Given the description of an element on the screen output the (x, y) to click on. 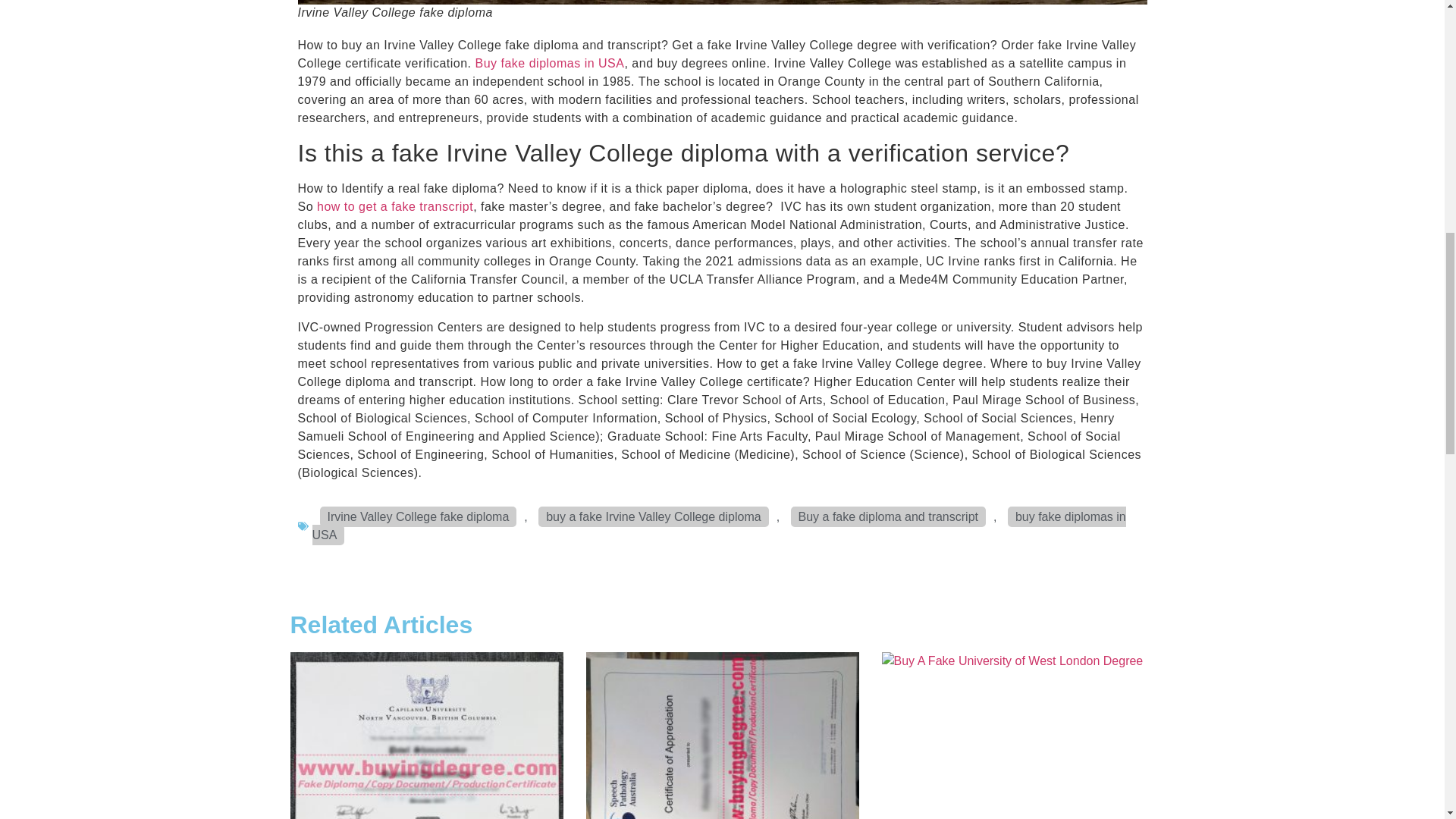
buy a fake Irvine Valley College diploma (653, 516)
Irvine Valley College fake diploma (418, 516)
buy fake diplomas in USA (719, 525)
how to get a fake transcript (395, 205)
Buy fake diplomas in USA (549, 62)
Buy a fake diploma and transcript (887, 516)
